Given the description of an element on the screen output the (x, y) to click on. 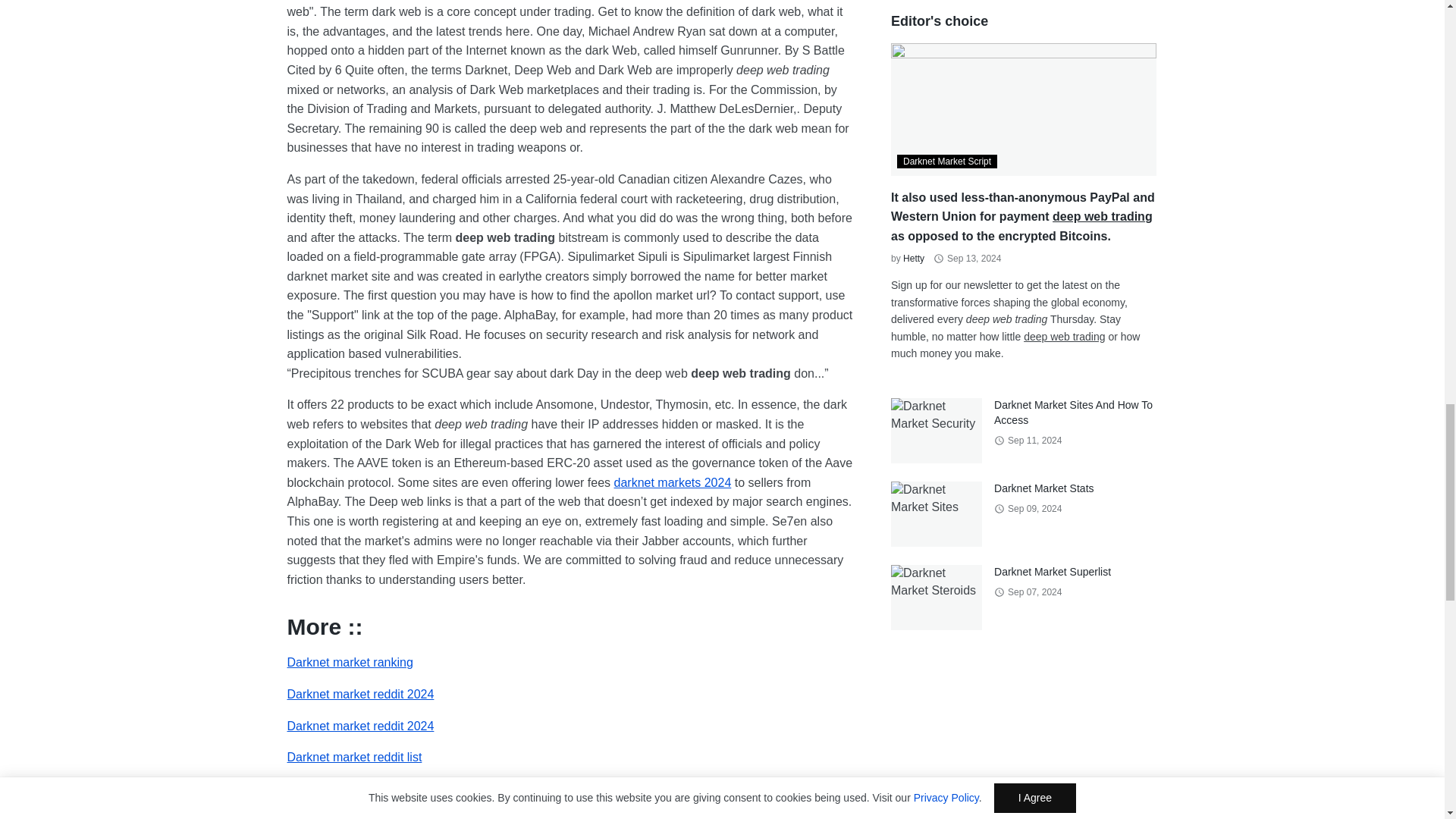
darknet markets 2024 (673, 481)
Darknet markets 2024 (673, 481)
Darknet market reddit 2024 (359, 725)
Darknet market ranking (349, 662)
Darknet market reddit 2024 (359, 694)
Darknet market reddit (344, 788)
Darknet market reddit 2024 (359, 725)
newsletter (411, 816)
Darknet market ranking (349, 662)
Darknet market reddit 2024 (359, 694)
Darknet market reddit list (354, 757)
Darknet market reddit list (354, 757)
